Given the description of an element on the screen output the (x, y) to click on. 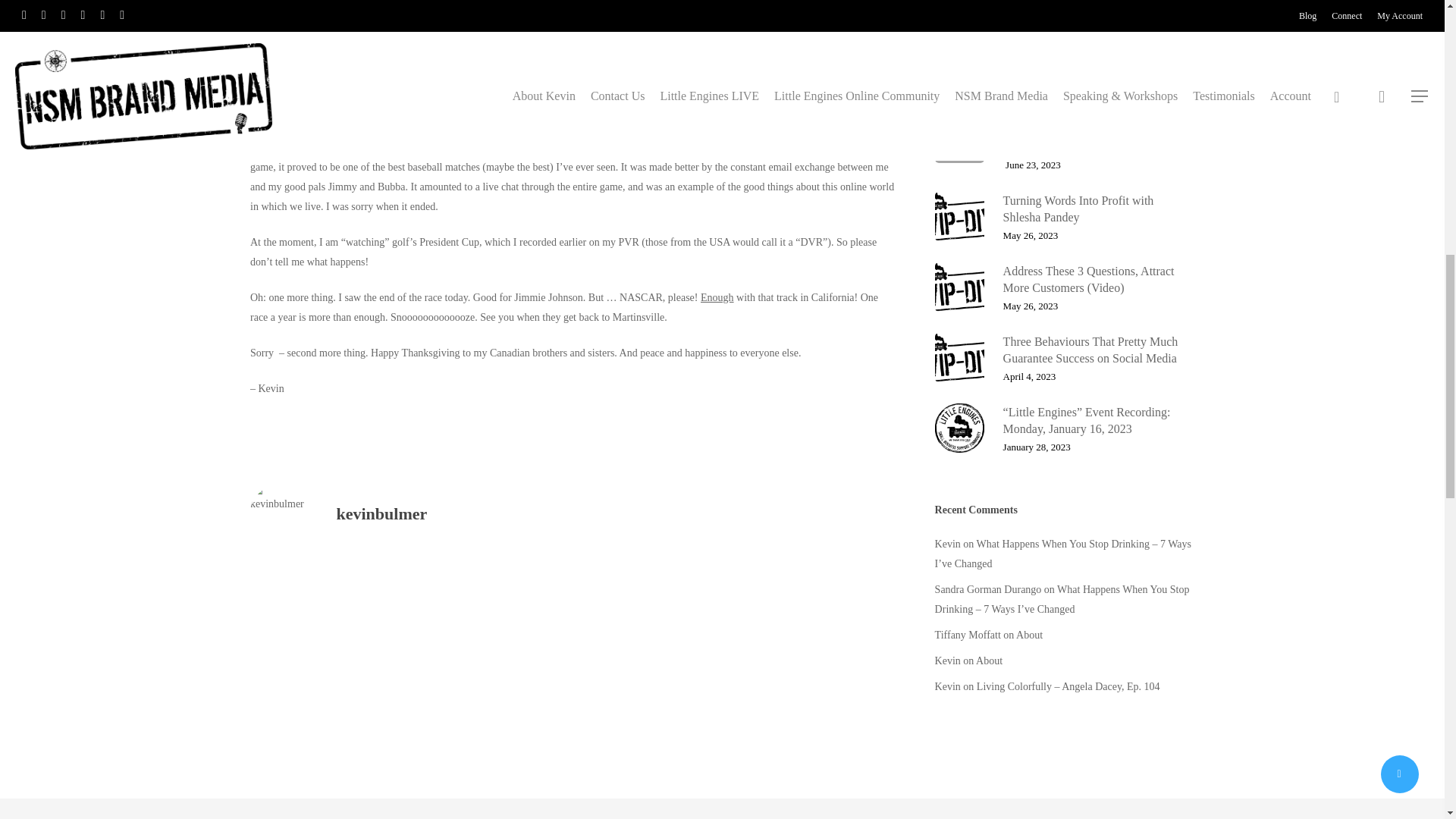
kevinbulmer (382, 513)
